Given the description of an element on the screen output the (x, y) to click on. 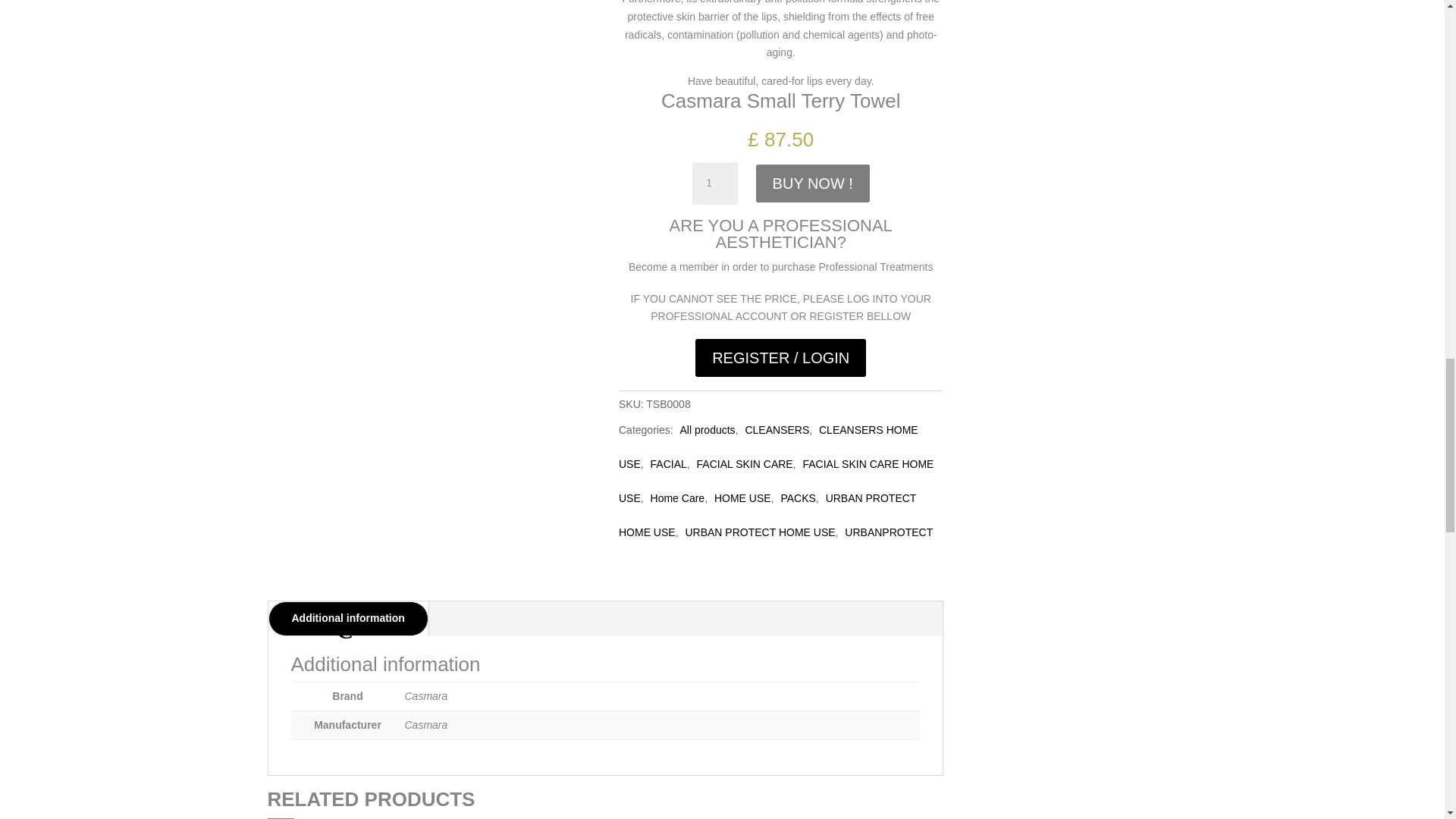
1 (715, 183)
